Given the description of an element on the screen output the (x, y) to click on. 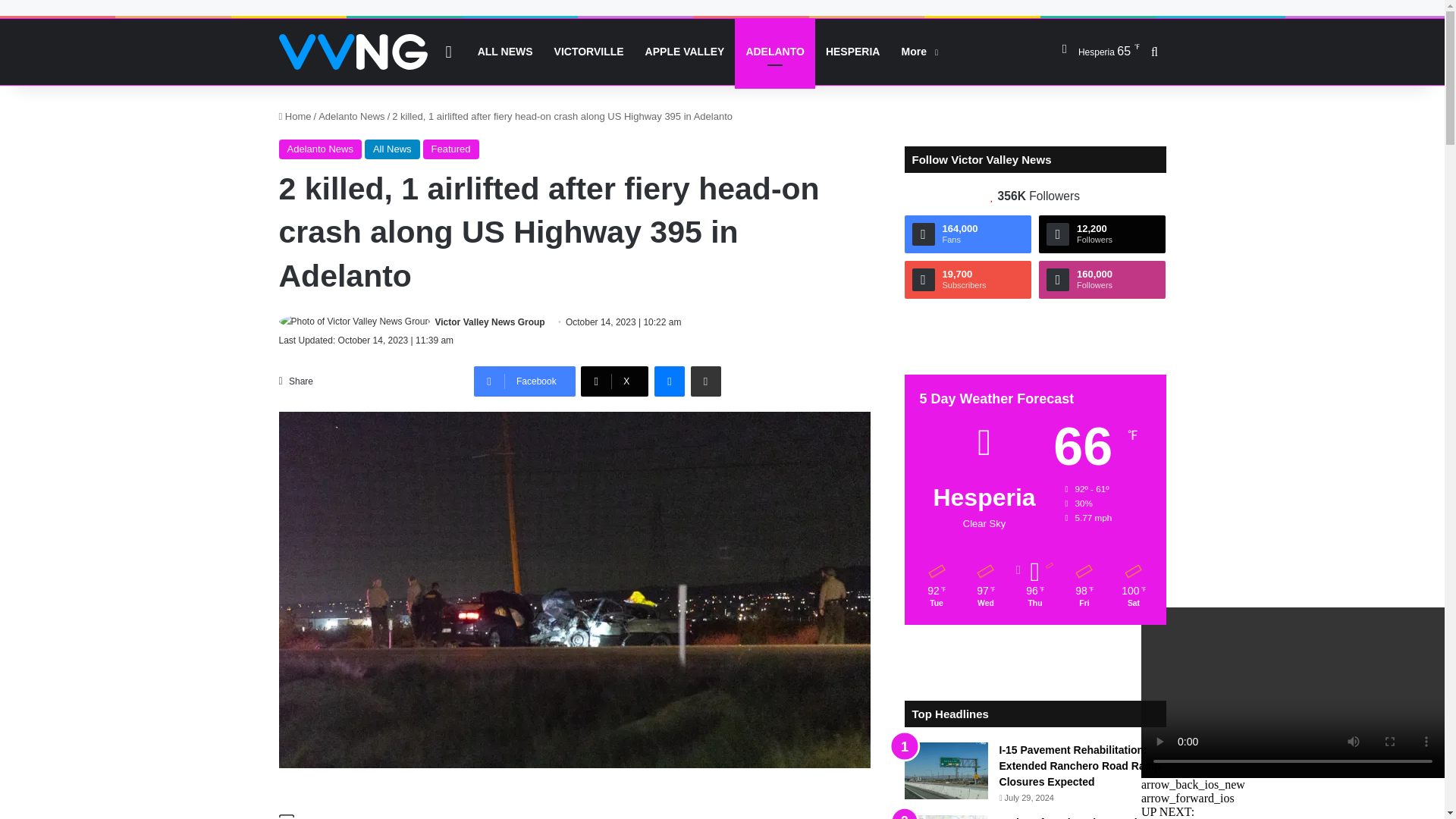
Victor Valley News Group (489, 321)
Facebook (524, 381)
ALL NEWS (505, 51)
Share via Email (705, 381)
X (613, 381)
ADELANTO (775, 51)
Adelanto News (351, 116)
VVNG - Victor Valley News (353, 51)
Featured (451, 148)
Share via Email (705, 381)
VICTORVILLE (588, 51)
Messenger (668, 381)
Adelanto News (320, 148)
All News (392, 148)
Messenger (668, 381)
